Given the description of an element on the screen output the (x, y) to click on. 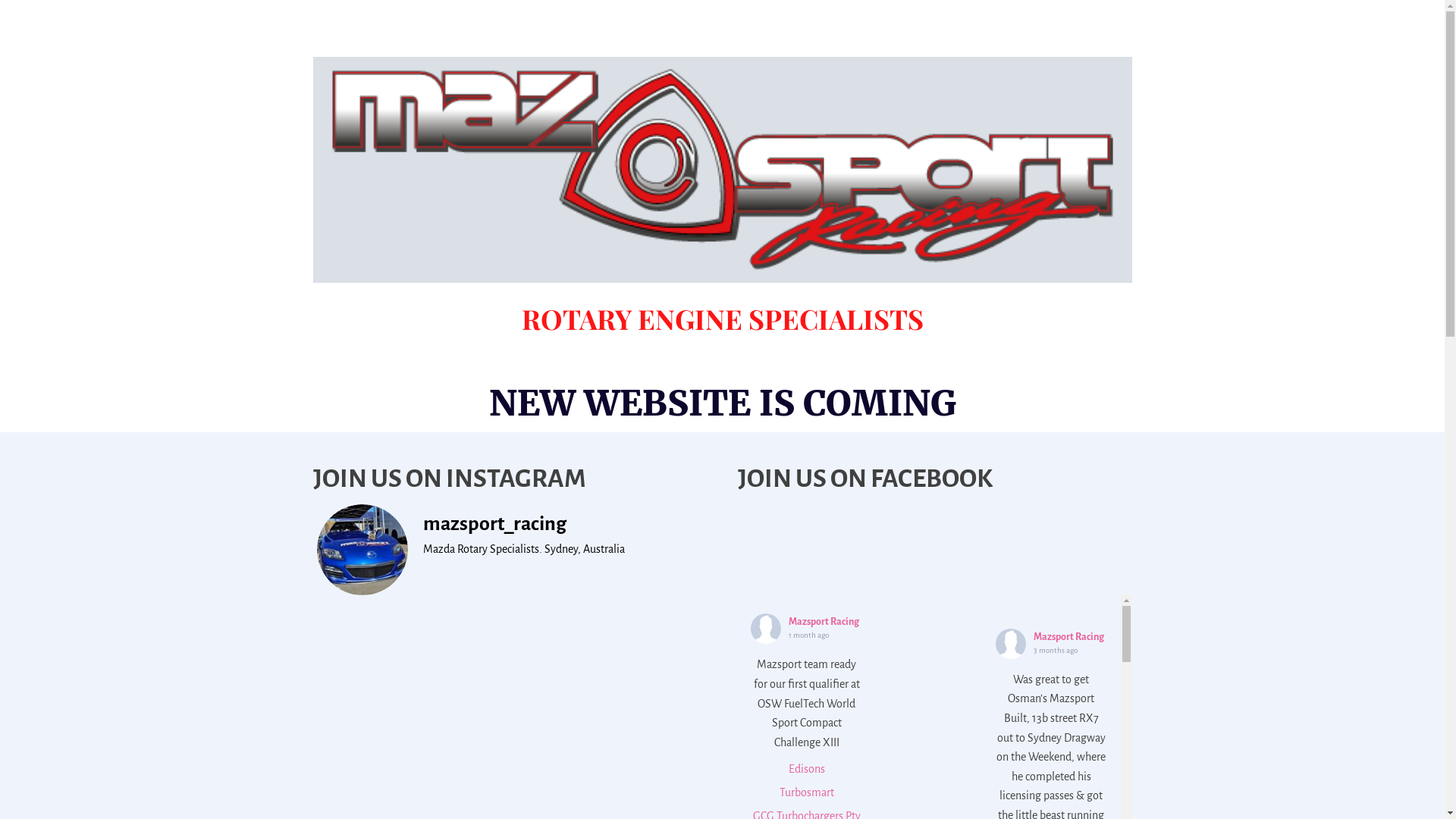
Mazsport Racing Element type: text (823, 621)
Mazsport Racing Element type: text (1068, 636)
Edisons Element type: text (806, 768)
mazsport_racing
Mazda Rotary Specialists. Sydney, Australia Element type: text (501, 549)
Turbosmart Element type: text (806, 792)
